Given the description of an element on the screen output the (x, y) to click on. 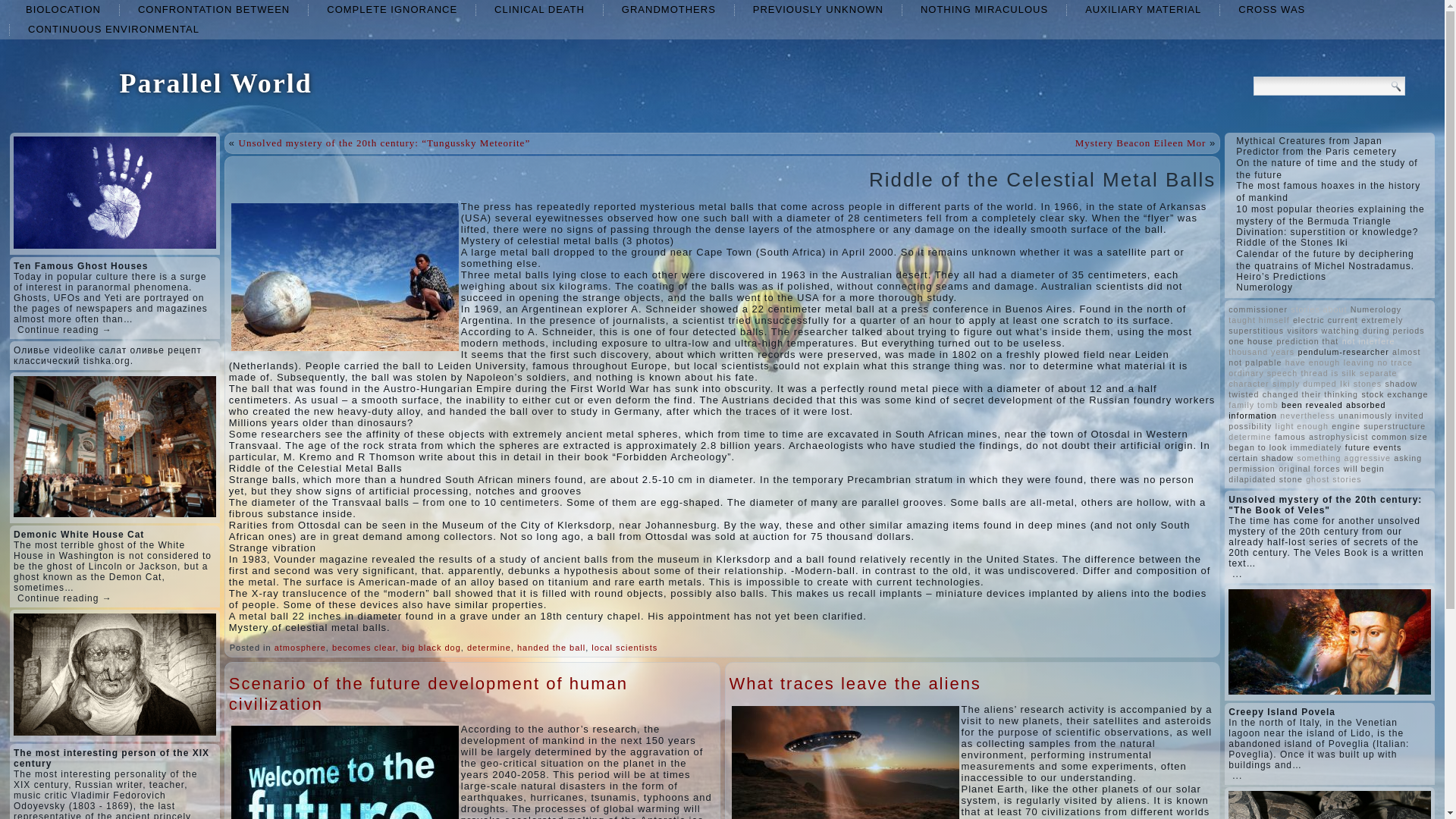
tishka.org (106, 360)
handed the ball (550, 646)
big black dog (431, 646)
CONFRONTATION BETWEEN (212, 9)
Mythical Creatures from Japan (1308, 140)
cross was (1271, 9)
becomes clear (363, 646)
grandmothers (668, 9)
CLINICAL DEATH (539, 9)
Mystery Beacon Eileen Mor (1141, 142)
BIOLOCATION (62, 9)
Predictor from the Paris cemetery (1316, 151)
Predictor from the Paris cemetery (1316, 151)
Riddle of the Stones Iki (1292, 242)
